Given the description of an element on the screen output the (x, y) to click on. 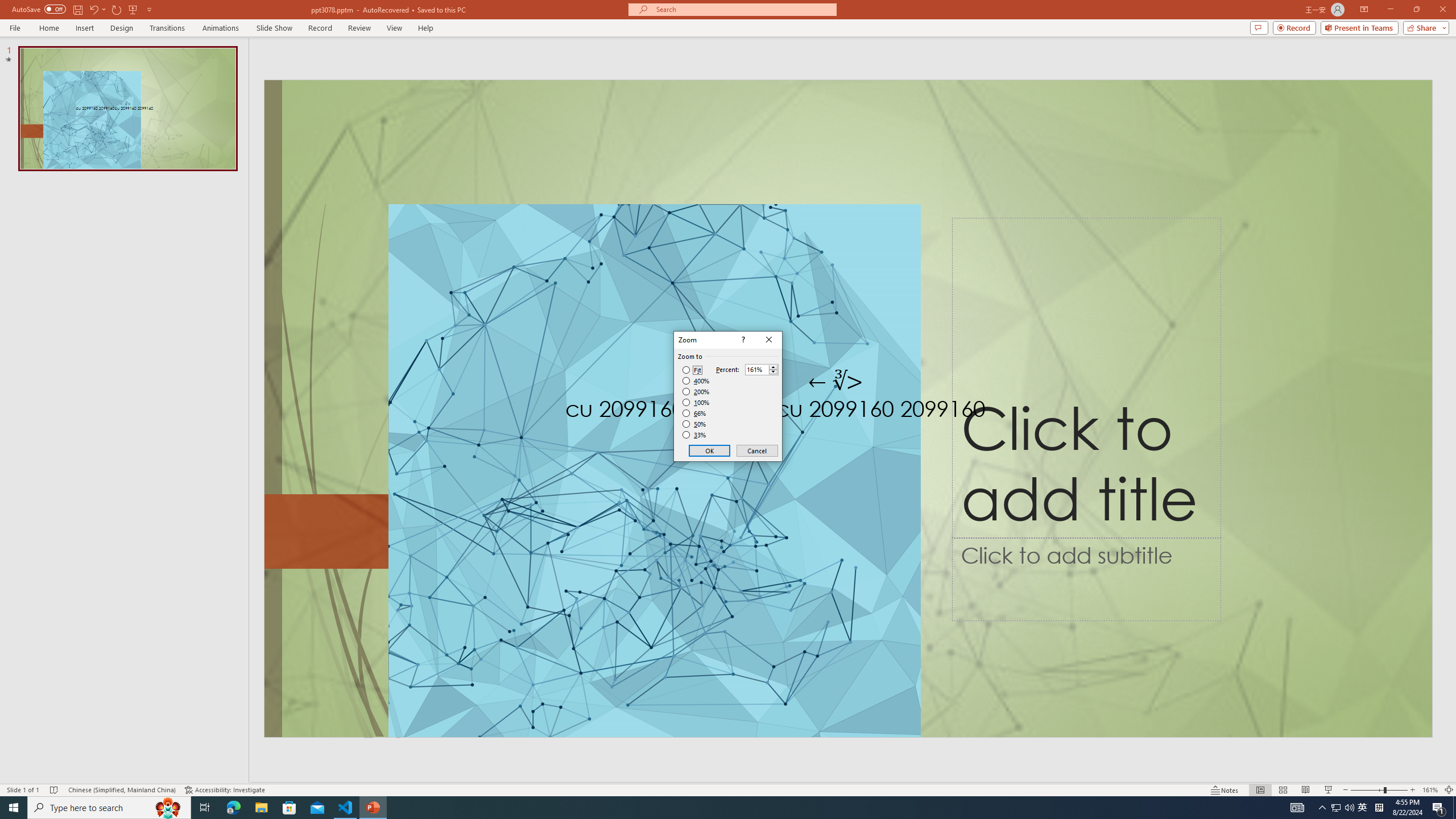
Microsoft Edge (233, 807)
400% (696, 380)
200% (696, 391)
OK (709, 450)
